Given the description of an element on the screen output the (x, y) to click on. 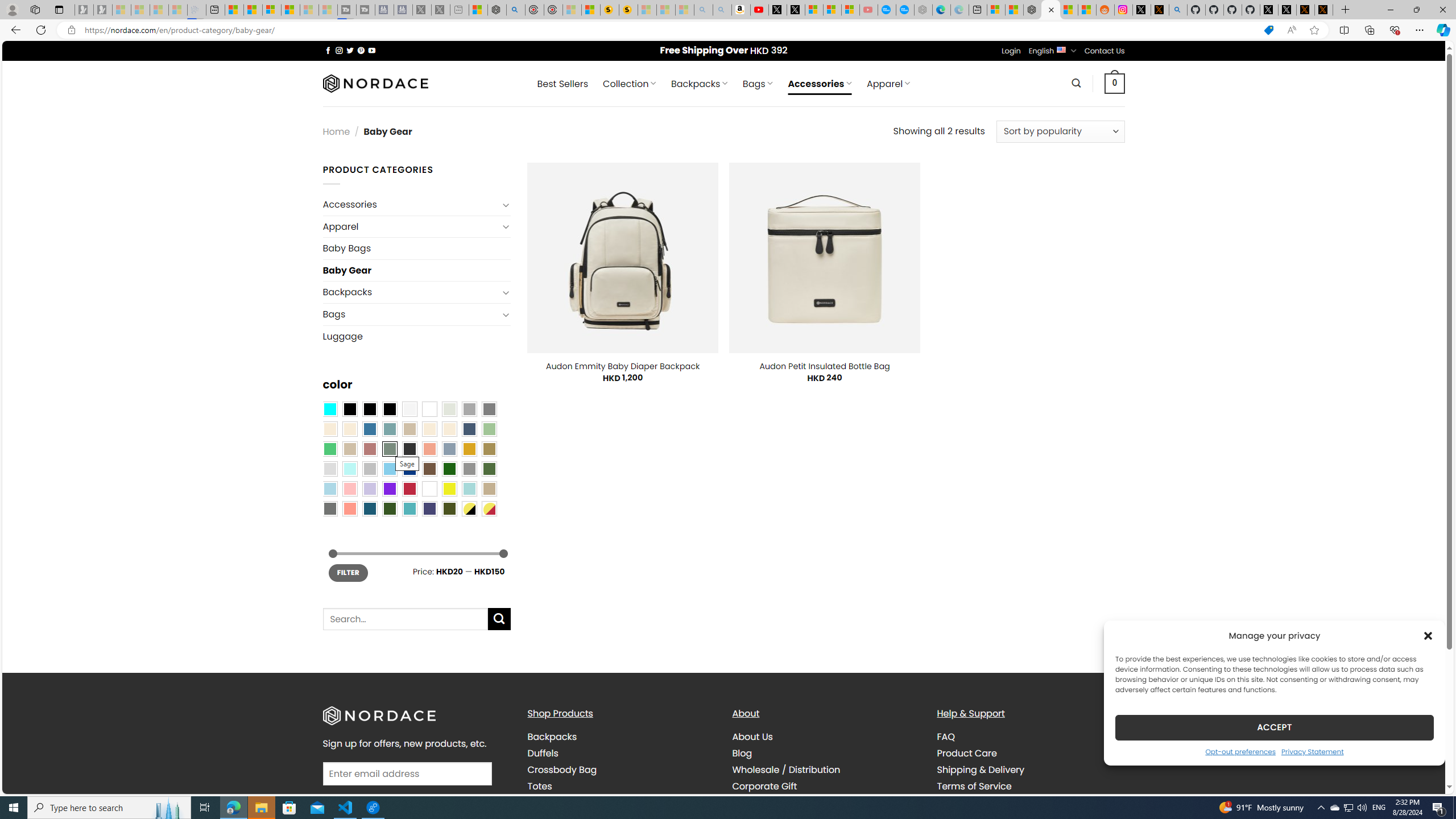
Nordace - Nordace has arrived Hong Kong - Sleeping (923, 9)
Blog (742, 753)
Backpacks (620, 737)
Crossbody Bag (620, 769)
Terms of Service (1030, 785)
Light Taupe (349, 448)
Dusty Blue (449, 448)
Dark Green (449, 468)
All Gray (488, 408)
